Given the description of an element on the screen output the (x, y) to click on. 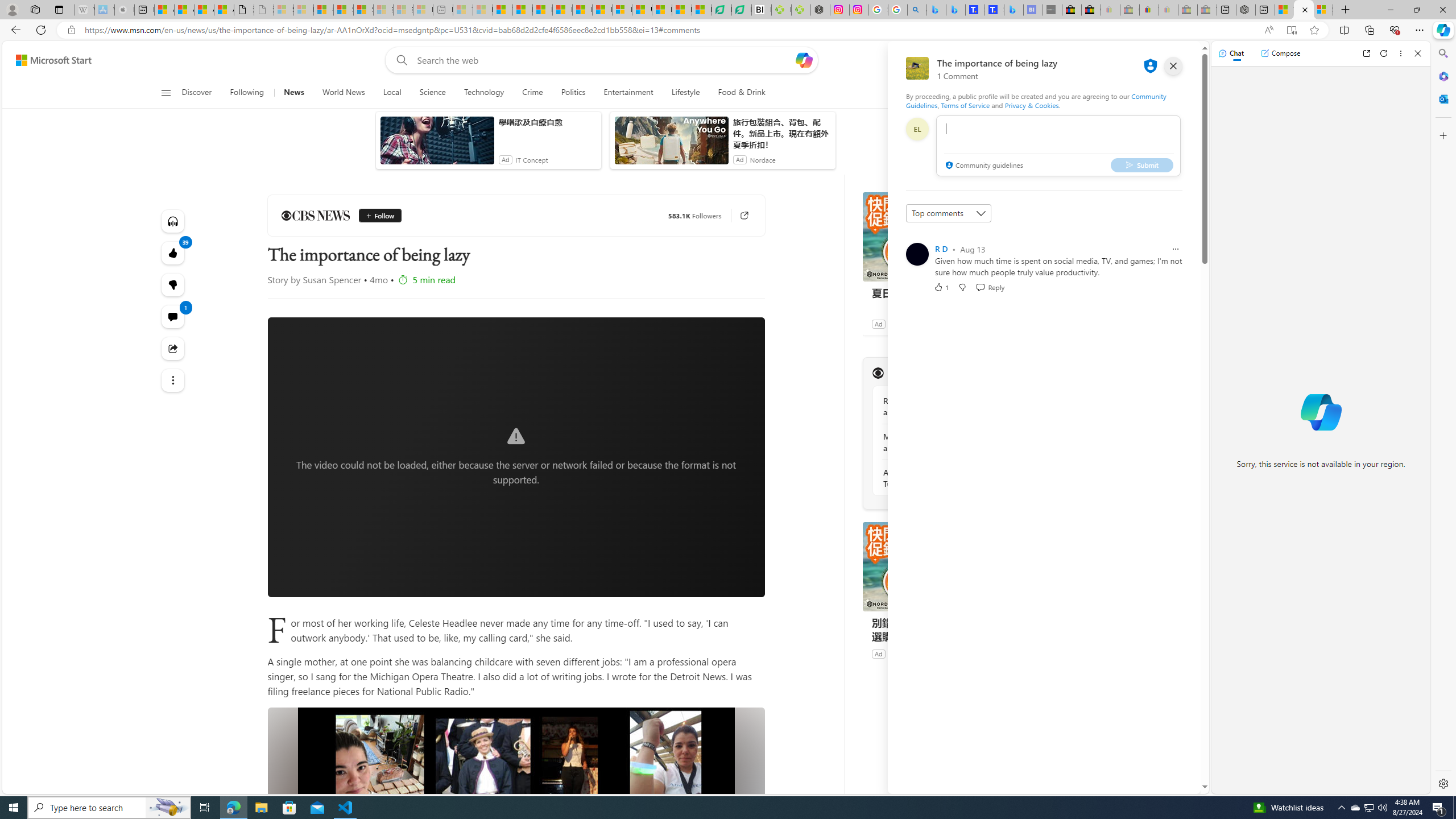
Aberdeen, Hong Kong SAR severe weather | Microsoft Weather (223, 9)
Follow (375, 215)
Safety in Our Products - Google Safety Center (877, 9)
Reply Reply Comment (990, 287)
Report comment (1175, 249)
